Given the description of an element on the screen output the (x, y) to click on. 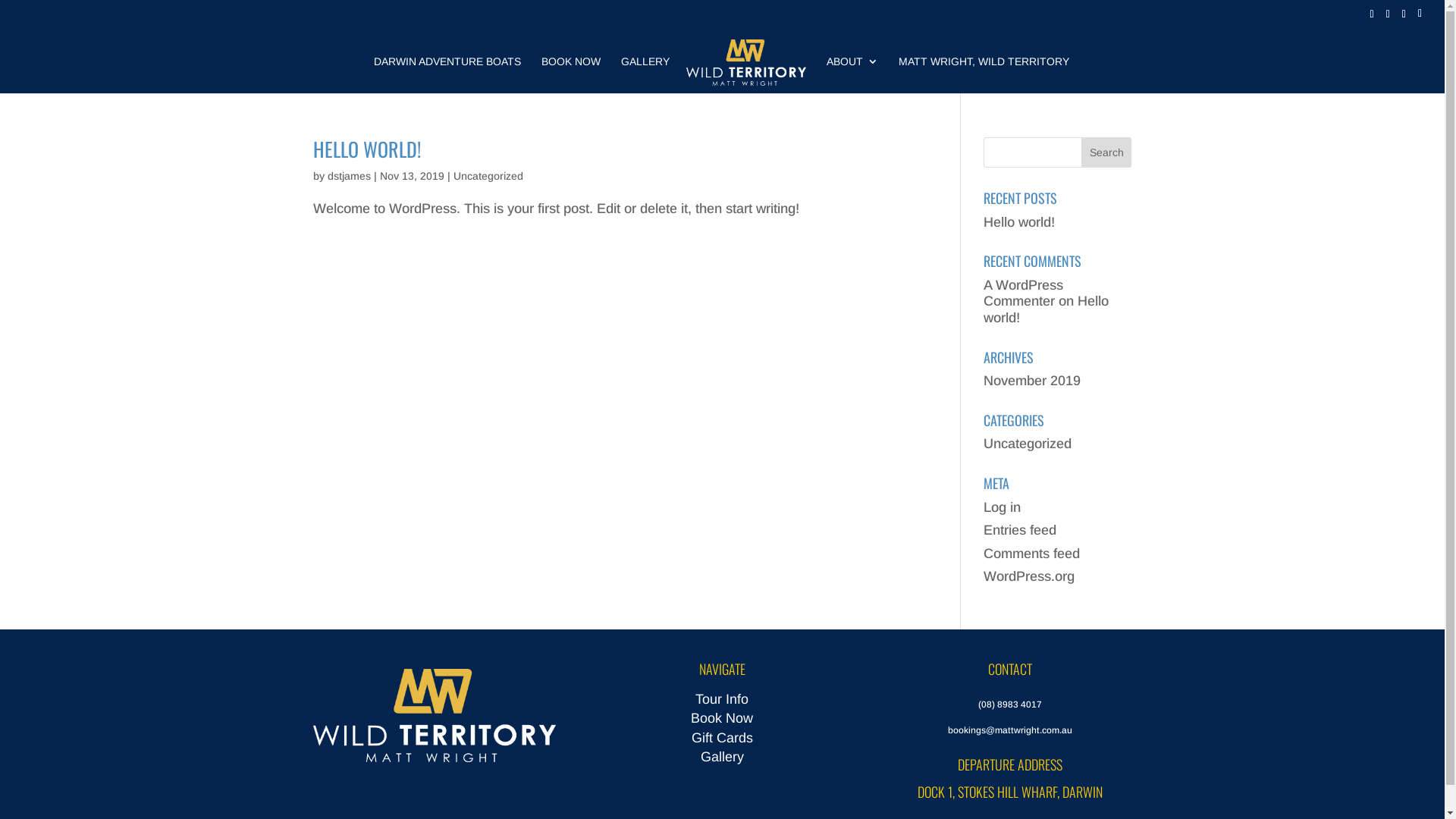
MATT WRIGHT, WILD TERRITORY Element type: text (983, 74)
HELLO WORLD! Element type: text (366, 148)
Log in Element type: text (1001, 506)
November 2019 Element type: text (1031, 380)
Entries feed Element type: text (1019, 529)
Search Element type: text (1106, 152)
ABOUT Element type: text (852, 74)
A WordPress Commenter Element type: text (1023, 293)
Hello world! Element type: text (1045, 309)
DARWIN ADVENTURE BOATS Element type: text (446, 74)
WordPress.org Element type: text (1028, 575)
GALLERY Element type: text (645, 74)
Hello world! Element type: text (1018, 221)
Uncategorized Element type: text (488, 175)
BOOK NOW Element type: text (570, 74)
MWWT-wide Element type: hover (433, 715)
Uncategorized Element type: text (1027, 443)
Comments feed Element type: text (1031, 553)
dstjames Element type: text (348, 175)
